Given the description of an element on the screen output the (x, y) to click on. 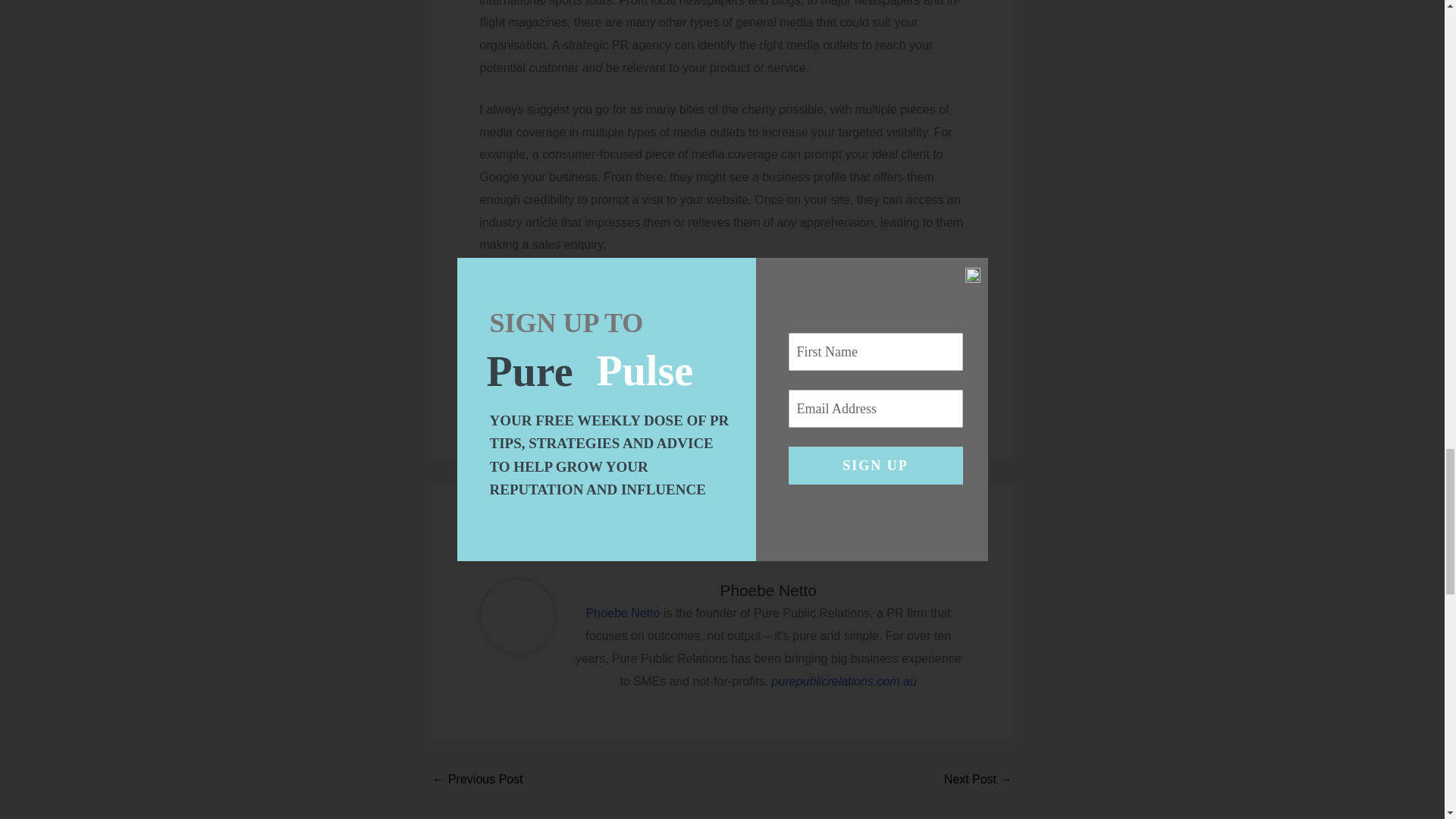
Is the media release dead? (977, 780)
Why media databases are not for everyone (477, 780)
